Given the description of an element on the screen output the (x, y) to click on. 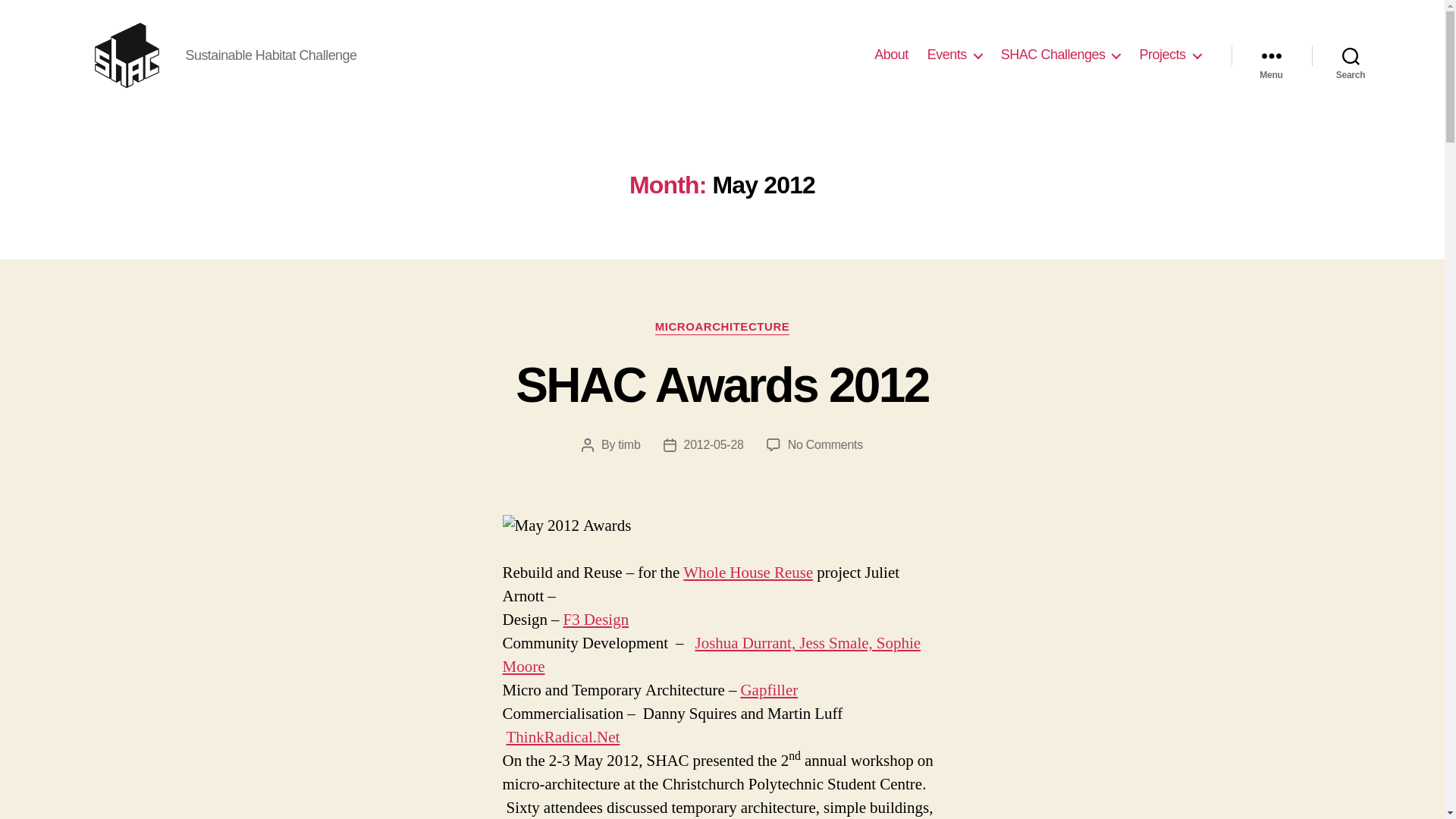
Search (1350, 55)
About (891, 54)
SHAC Challenges (1061, 54)
Projects (1168, 54)
Menu (1271, 55)
Events (954, 54)
